Given the description of an element on the screen output the (x, y) to click on. 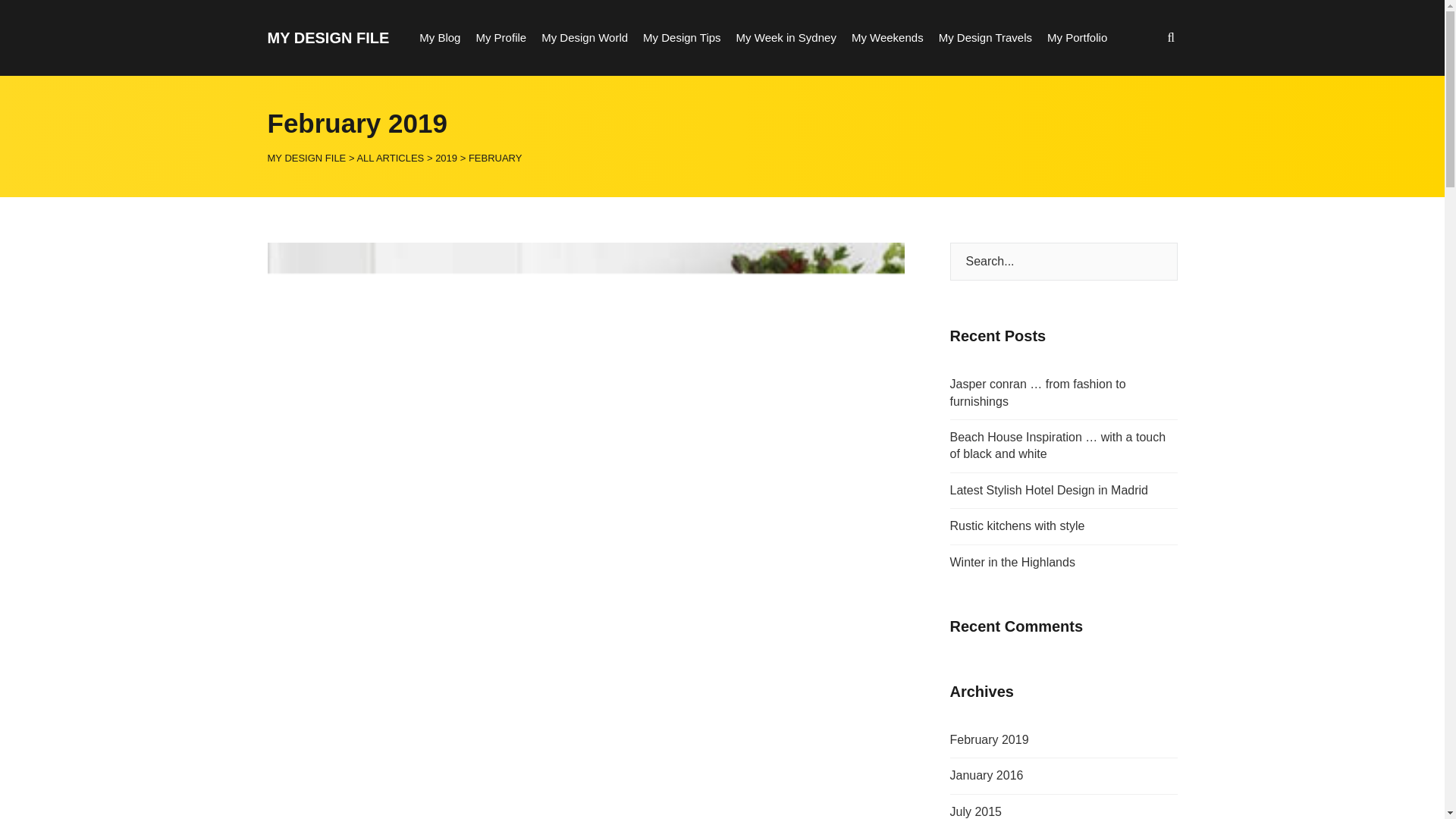
My Design Tips (681, 38)
July 2015 (975, 811)
January 2016 (986, 775)
Go to My Design File. (306, 156)
My Design File (327, 37)
ALL ARTICLES (389, 156)
Search... (1062, 261)
My Design World (584, 38)
2019 (446, 156)
My Weekends (887, 38)
